Given the description of an element on the screen output the (x, y) to click on. 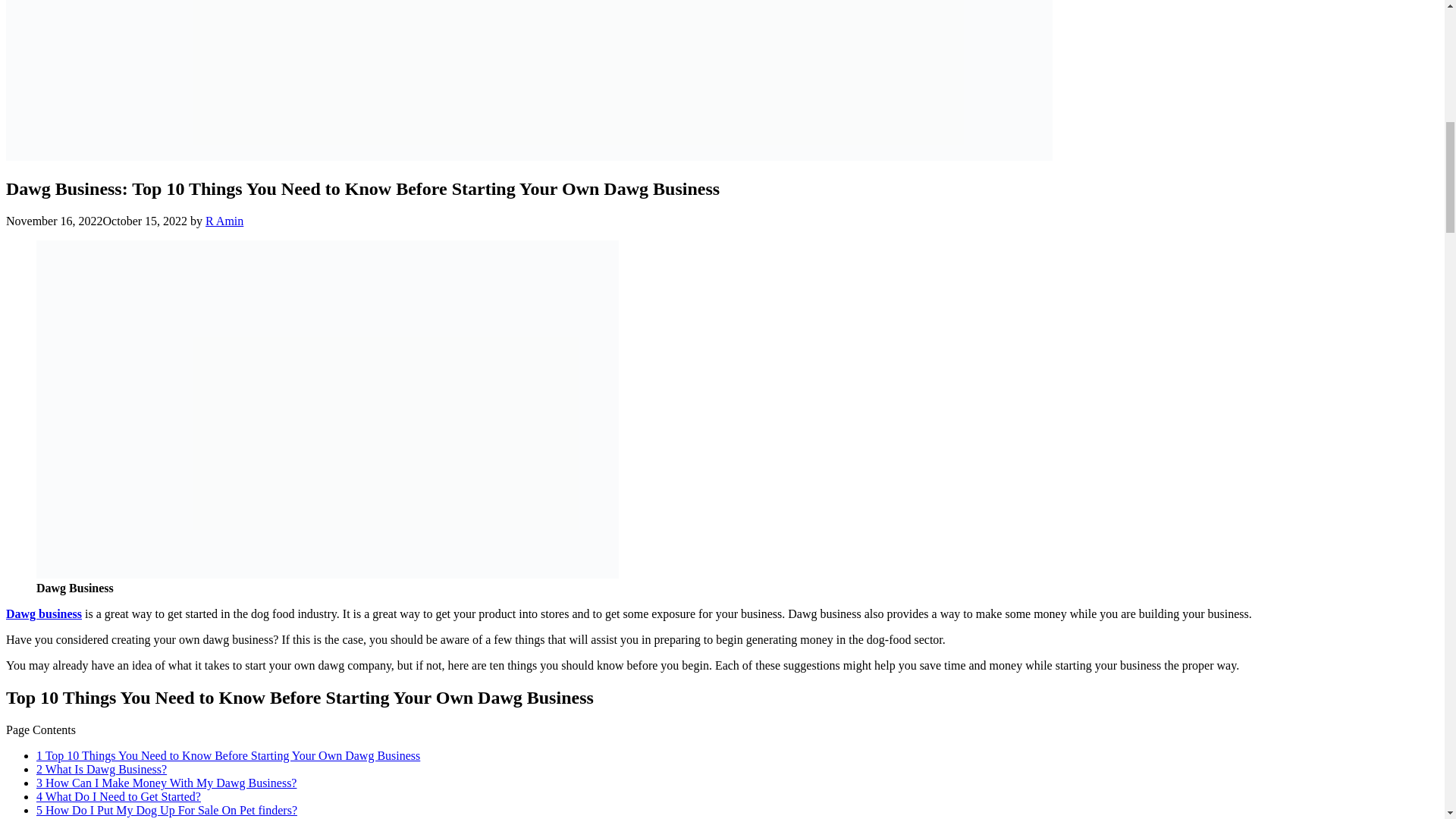
6 Listing Details (76, 818)
5 How Do I Put My Dog Up For Sale On Pet finders? (166, 809)
3 How Can I Make Money With My Dawg Business? (166, 782)
2 What Is Dawg Business? (101, 768)
R Amin (224, 220)
View all posts by R Amin (224, 220)
Dawg business (43, 613)
4 What Do I Need to Get Started? (118, 796)
